Given the description of an element on the screen output the (x, y) to click on. 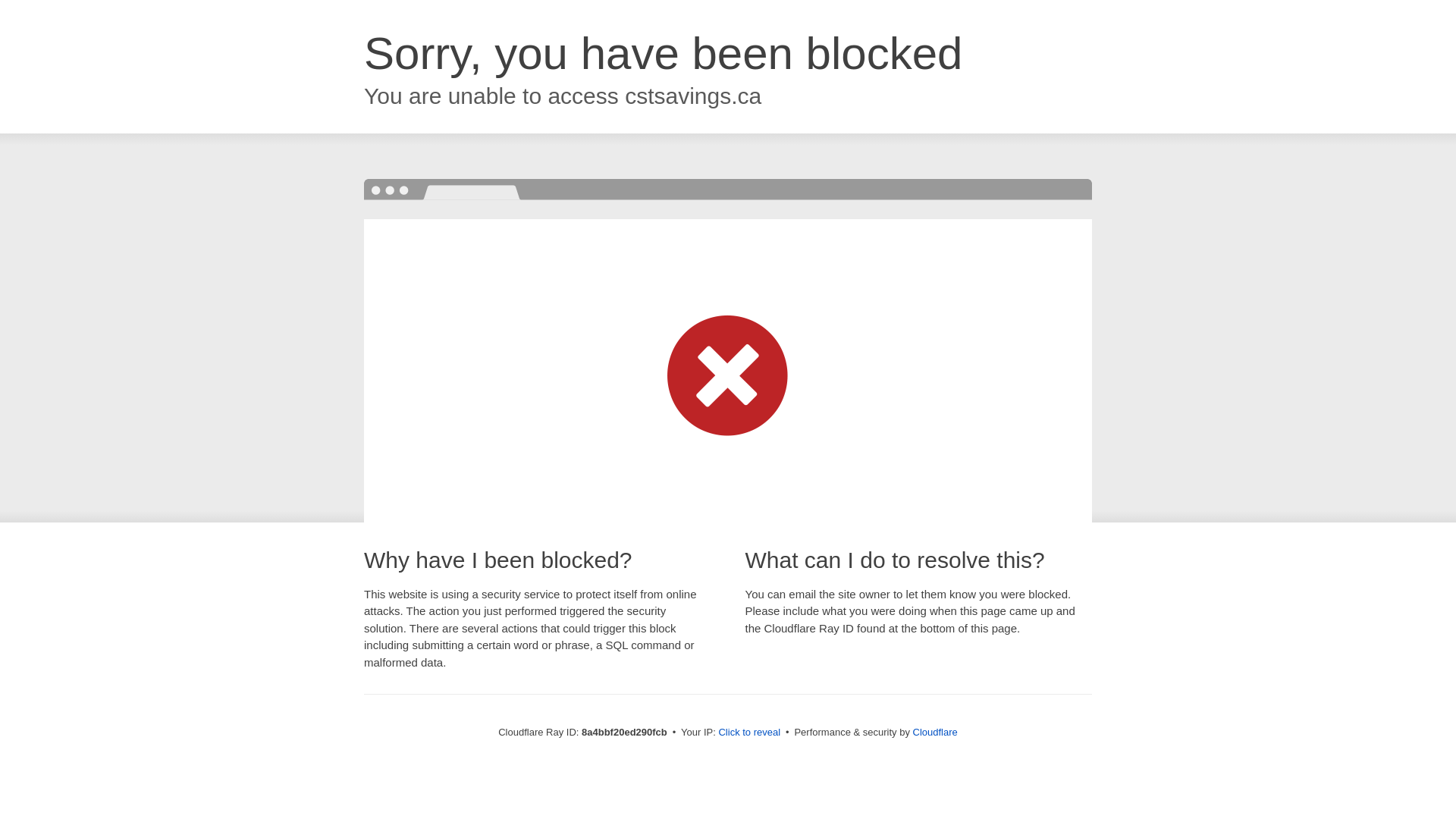
Cloudflare (935, 731)
Click to reveal (748, 732)
